Given the description of an element on the screen output the (x, y) to click on. 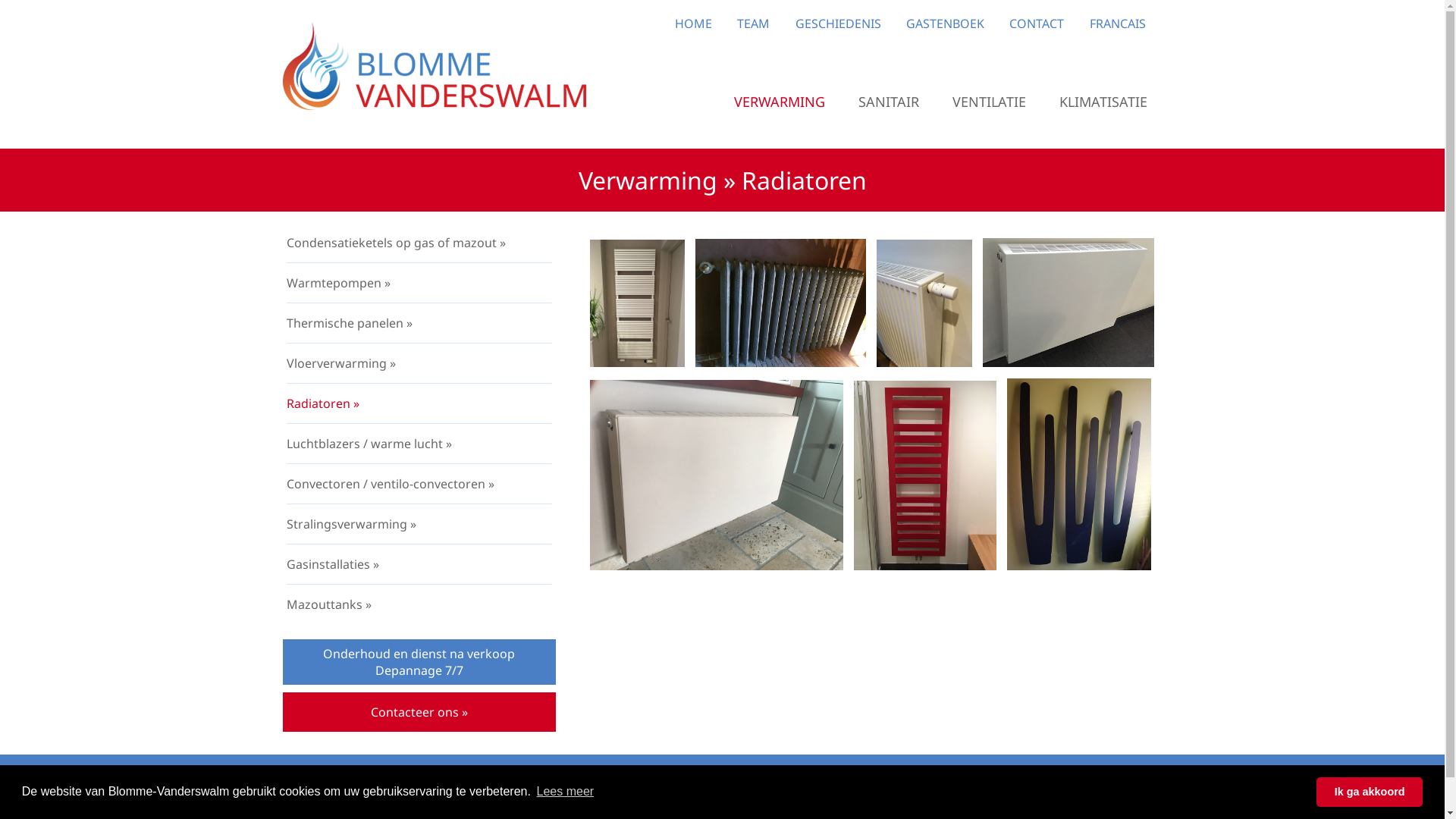
FRANCAIS Element type: text (1117, 23)
Radiatoren Element type: hover (780, 362)
Radiatoren Element type: hover (1068, 362)
Radiatoren Element type: hover (716, 565)
GASTENBOEK Element type: text (945, 23)
info@blvds.be Element type: text (763, 794)
SANITAIR Element type: text (888, 101)
055 21 14 14 Element type: text (675, 794)
VERWARMING Element type: text (779, 101)
Radiatoren Element type: hover (1079, 565)
KLIMATISATIE Element type: text (1102, 101)
VENTILATIE Element type: text (989, 101)
CONTACT Element type: text (1036, 23)
Radiatoren Element type: hover (924, 565)
Ik ga akkoord Element type: text (1369, 791)
TEAM Element type: text (753, 23)
Radiatoren Element type: hover (924, 362)
HOME Element type: text (693, 23)
GESCHIEDENIS Element type: text (838, 23)
Lees meer Element type: text (564, 791)
Radiatoren Element type: hover (637, 362)
